Given the description of an element on the screen output the (x, y) to click on. 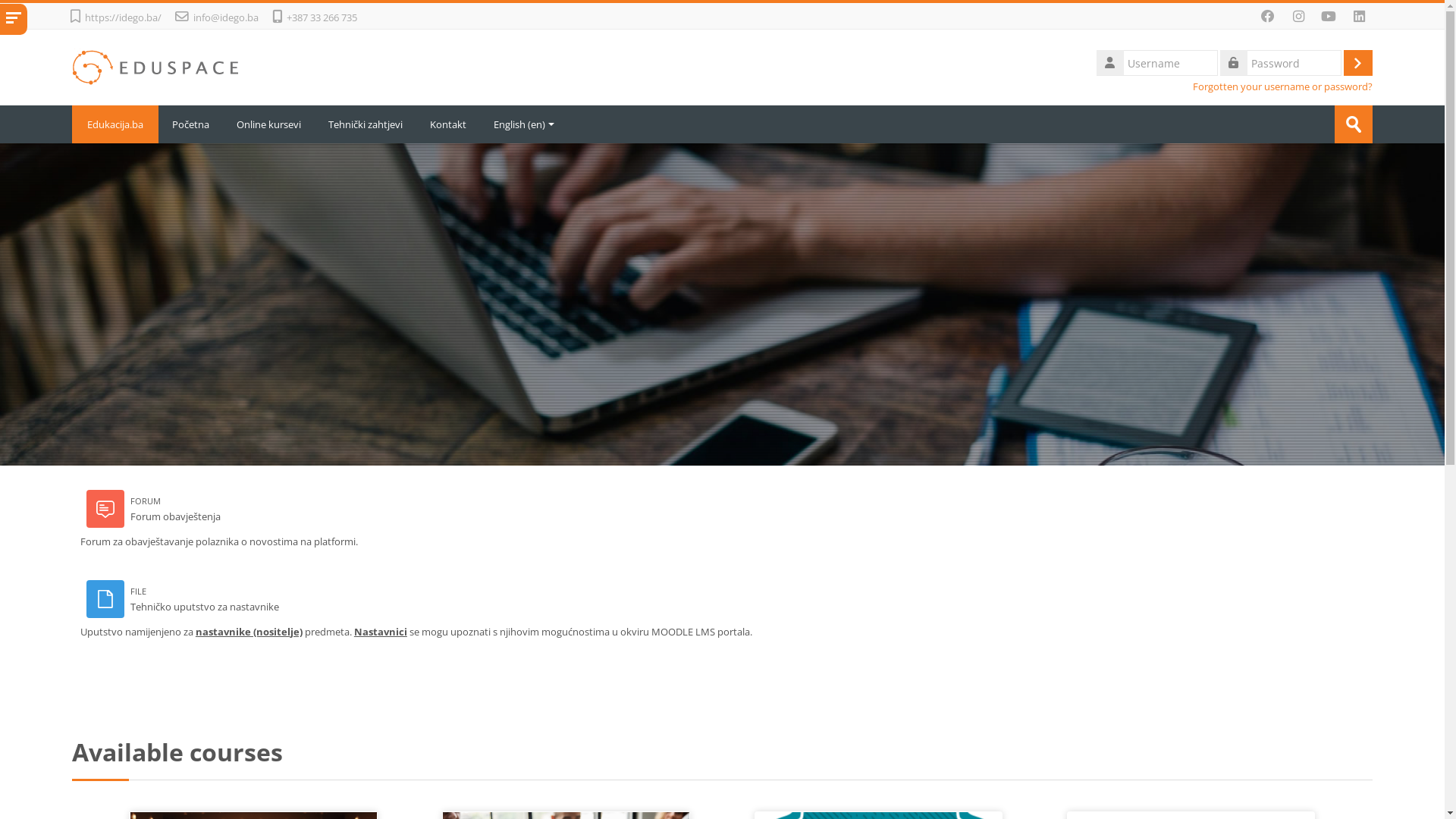
https://idego.ba/ Element type: text (128, 17)
Forgotten your username or password? Element type: text (1282, 86)
Submit Element type: text (1353, 124)
Edukacija.ba Element type: text (115, 124)
English (en) Element type: text (523, 124)
info@idego.ba Element type: text (231, 17)
Online kursevi Element type: text (268, 124)
Kontakt Element type: text (448, 124)
Log in Element type: text (1357, 62)
Home Element type: hover (156, 65)
+387 33 266 735 Element type: text (321, 17)
